Given the description of an element on the screen output the (x, y) to click on. 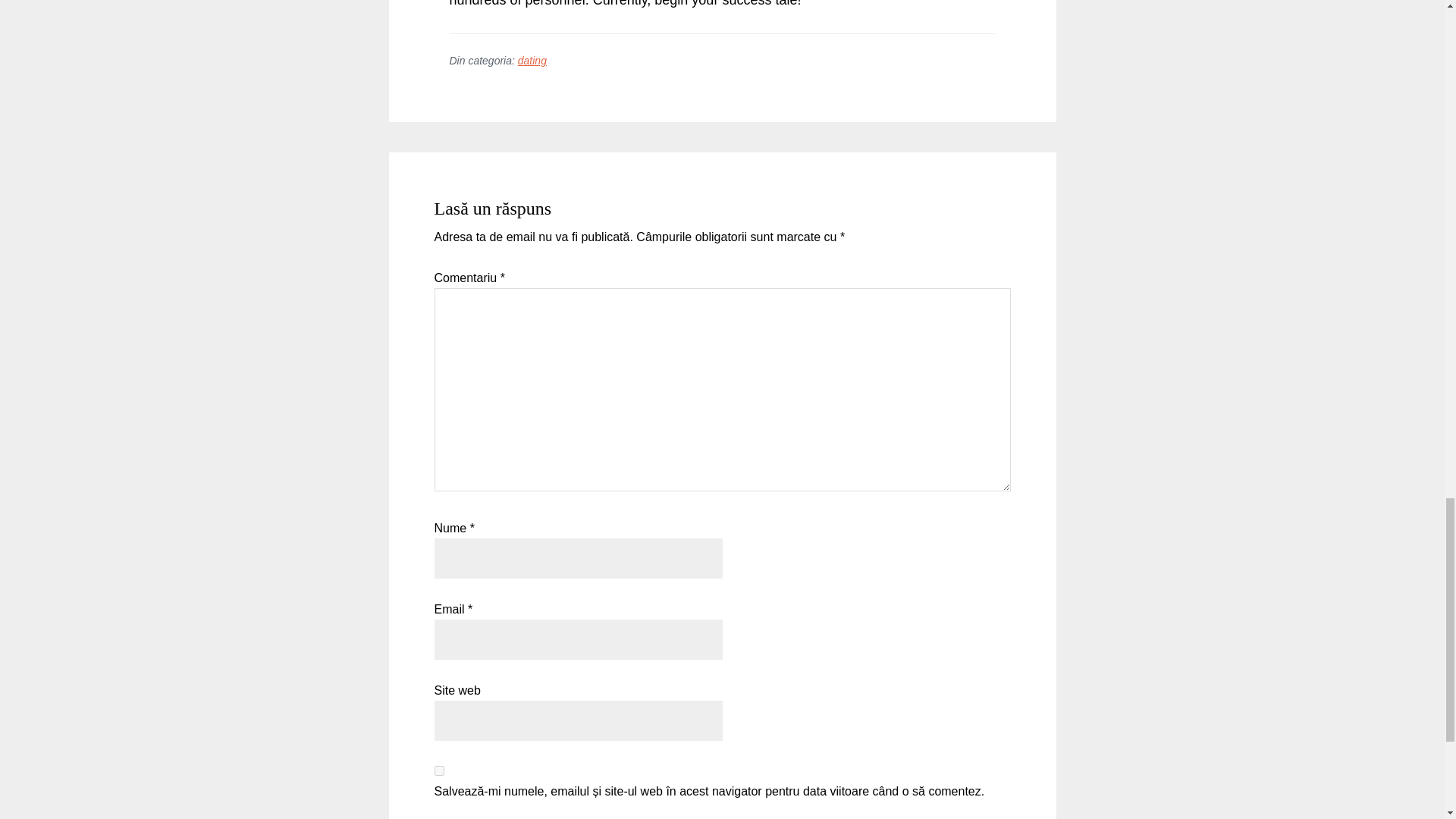
dating (532, 60)
yes (438, 770)
